Given the description of an element on the screen output the (x, y) to click on. 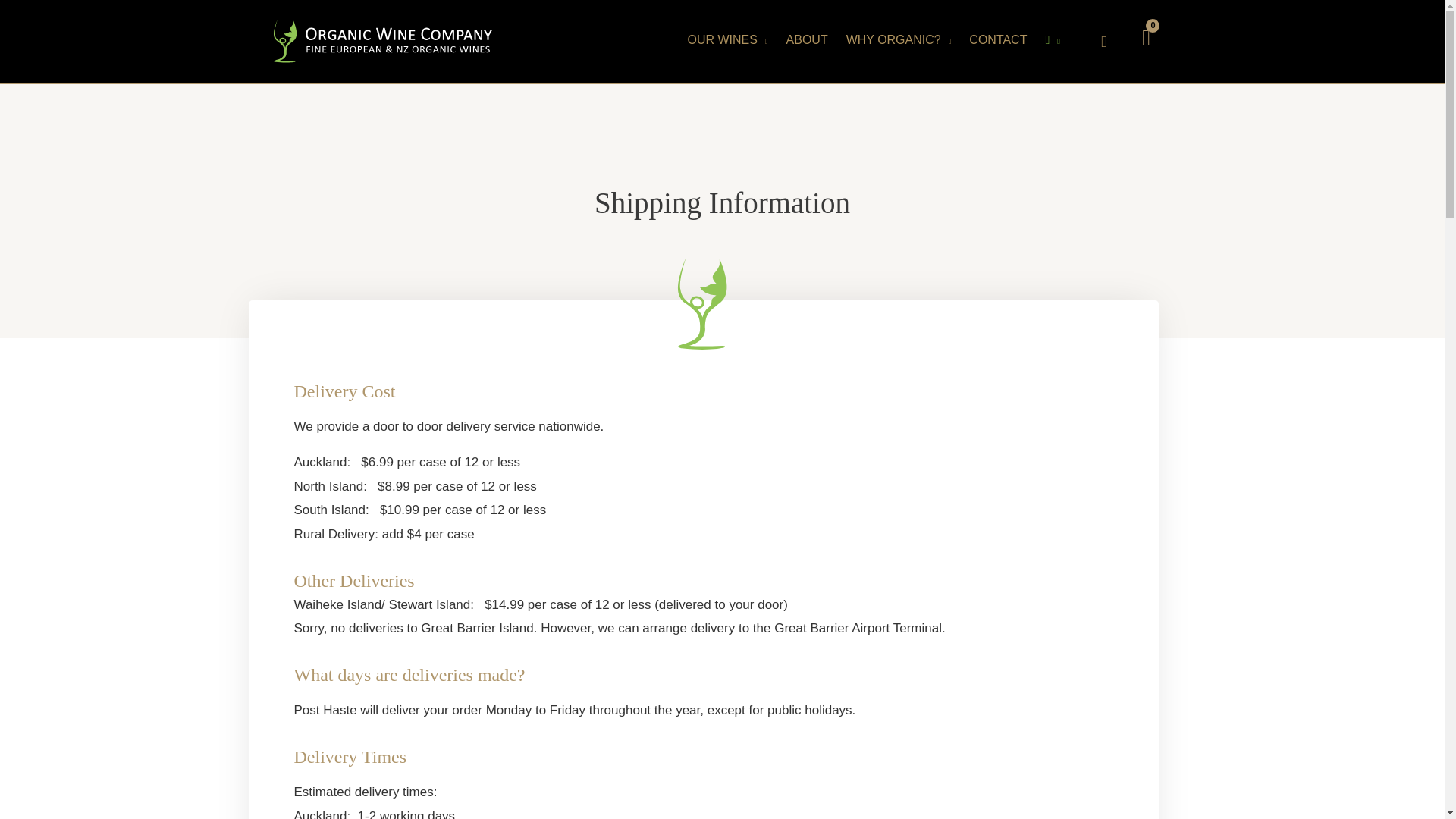
WHY ORGANIC? (900, 39)
ABOUT (808, 39)
OUR WINES (728, 39)
Contact		 (998, 39)
CONTACT (998, 39)
